Given the description of an element on the screen output the (x, y) to click on. 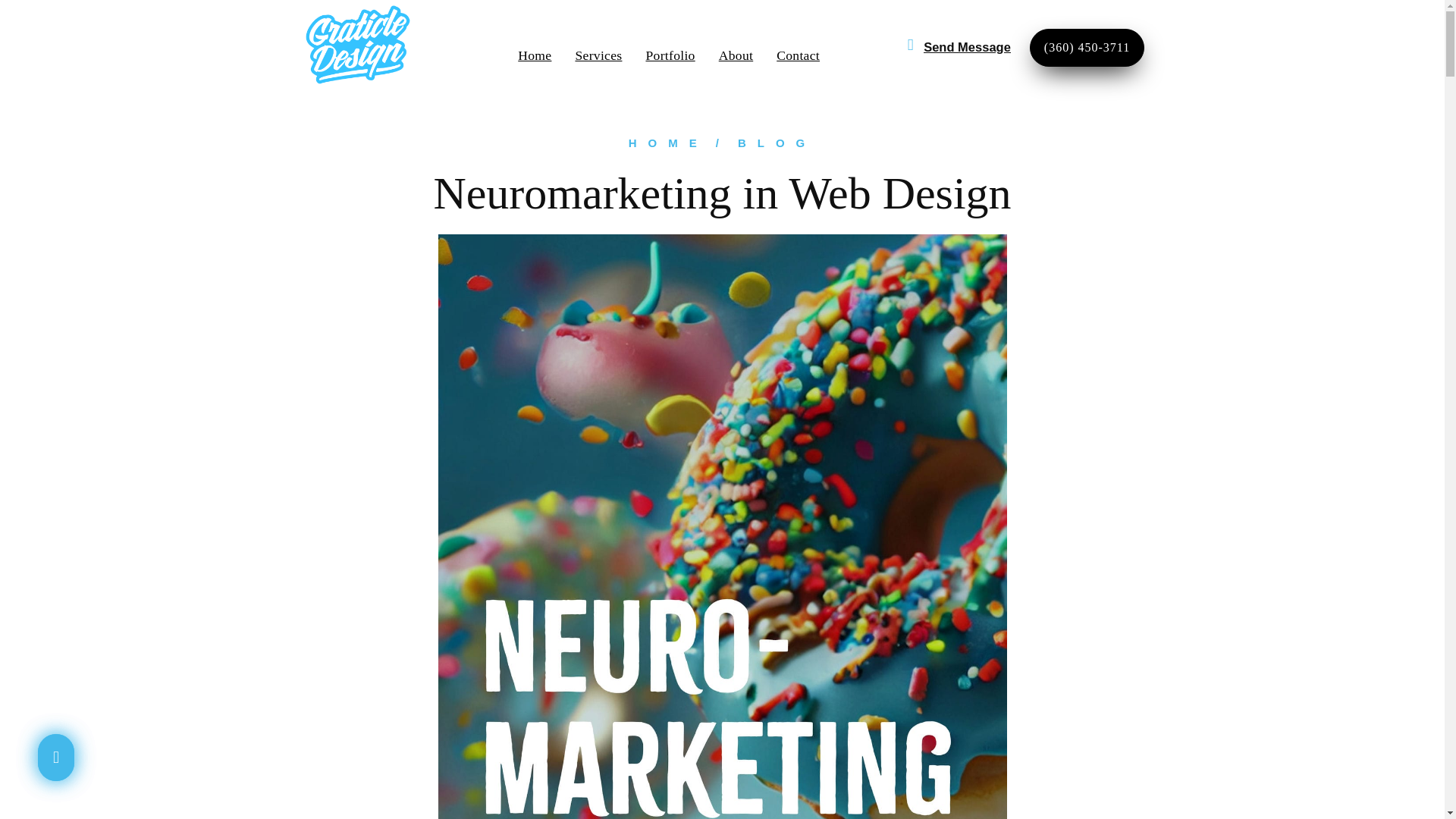
Send Message (966, 47)
Home (534, 55)
About (735, 55)
HOME (667, 142)
Contact (797, 55)
Services (598, 55)
Portfolio (669, 55)
BLOG (776, 142)
